Given the description of an element on the screen output the (x, y) to click on. 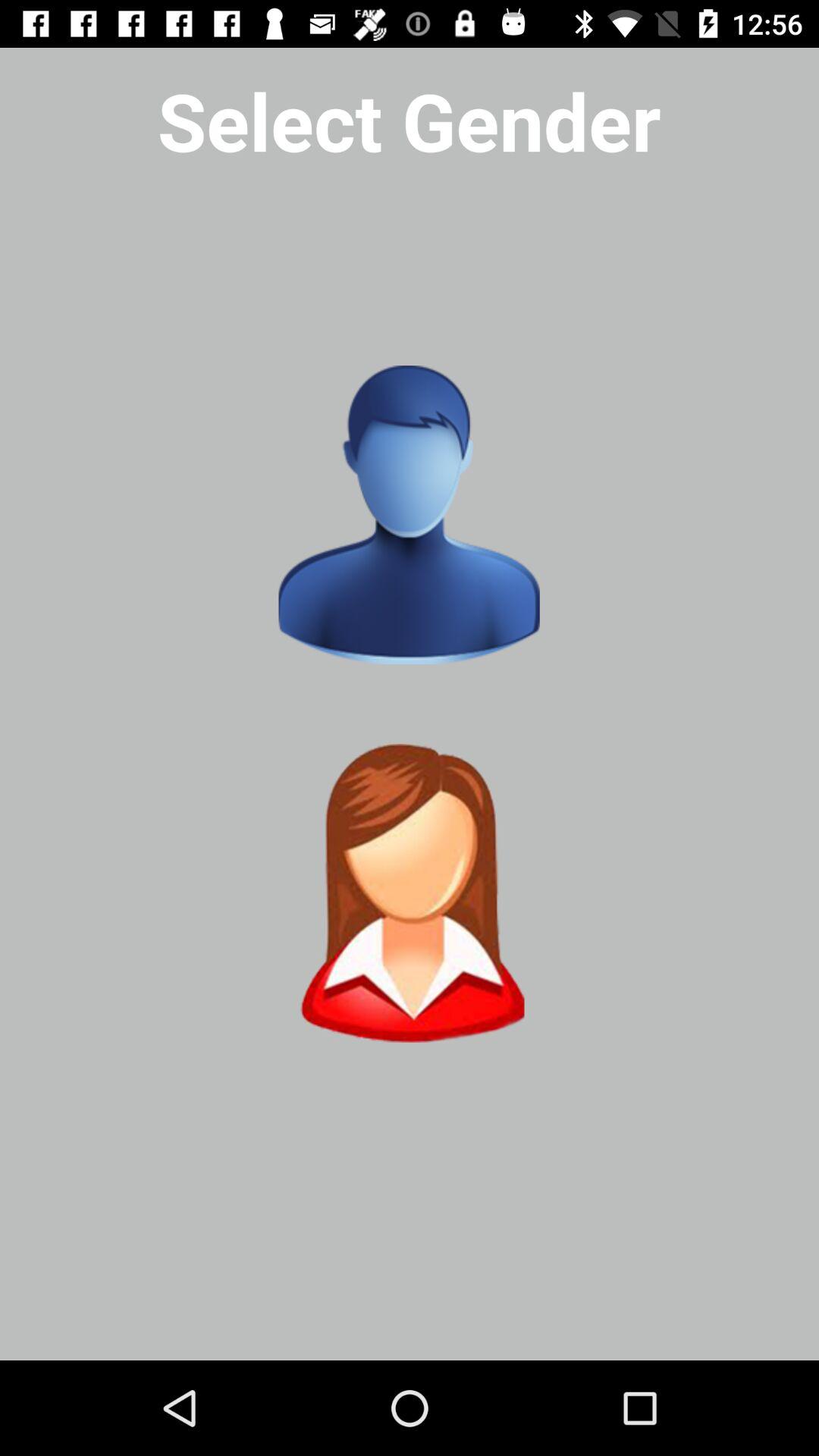
genter option (408, 514)
